Given the description of an element on the screen output the (x, y) to click on. 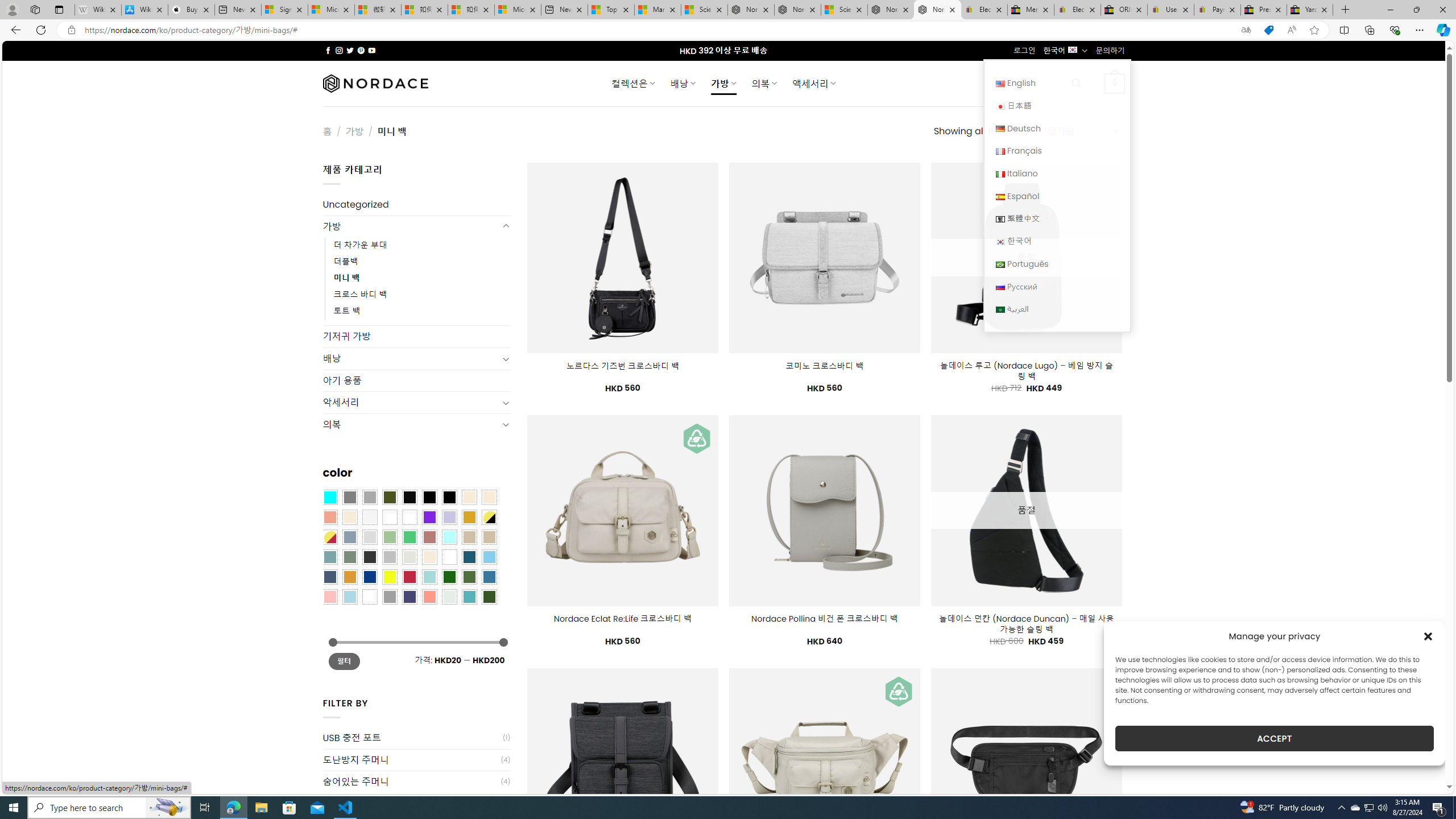
Coral (329, 517)
Deutsch (999, 128)
Deutsch Deutsch (1056, 128)
